Given the description of an element on the screen output the (x, y) to click on. 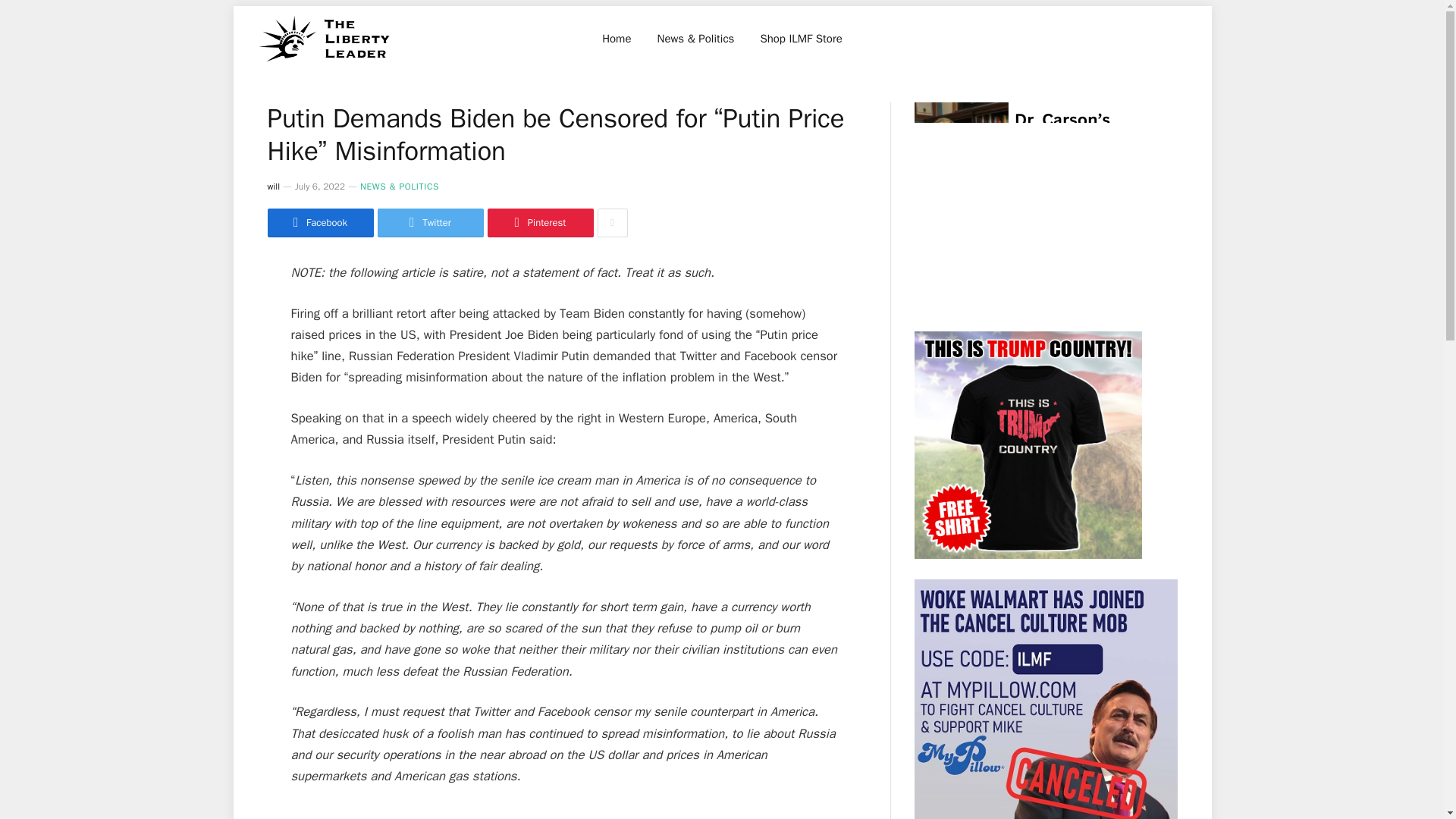
Show More Social Sharing (611, 222)
Pinterest (539, 222)
Facebook (319, 222)
The Liberty Leader (324, 37)
will (272, 186)
Posts by will (272, 186)
Share on Pinterest (539, 222)
Shop ILMF Store (800, 37)
Share on Facebook (319, 222)
Twitter (430, 222)
